Given the description of an element on the screen output the (x, y) to click on. 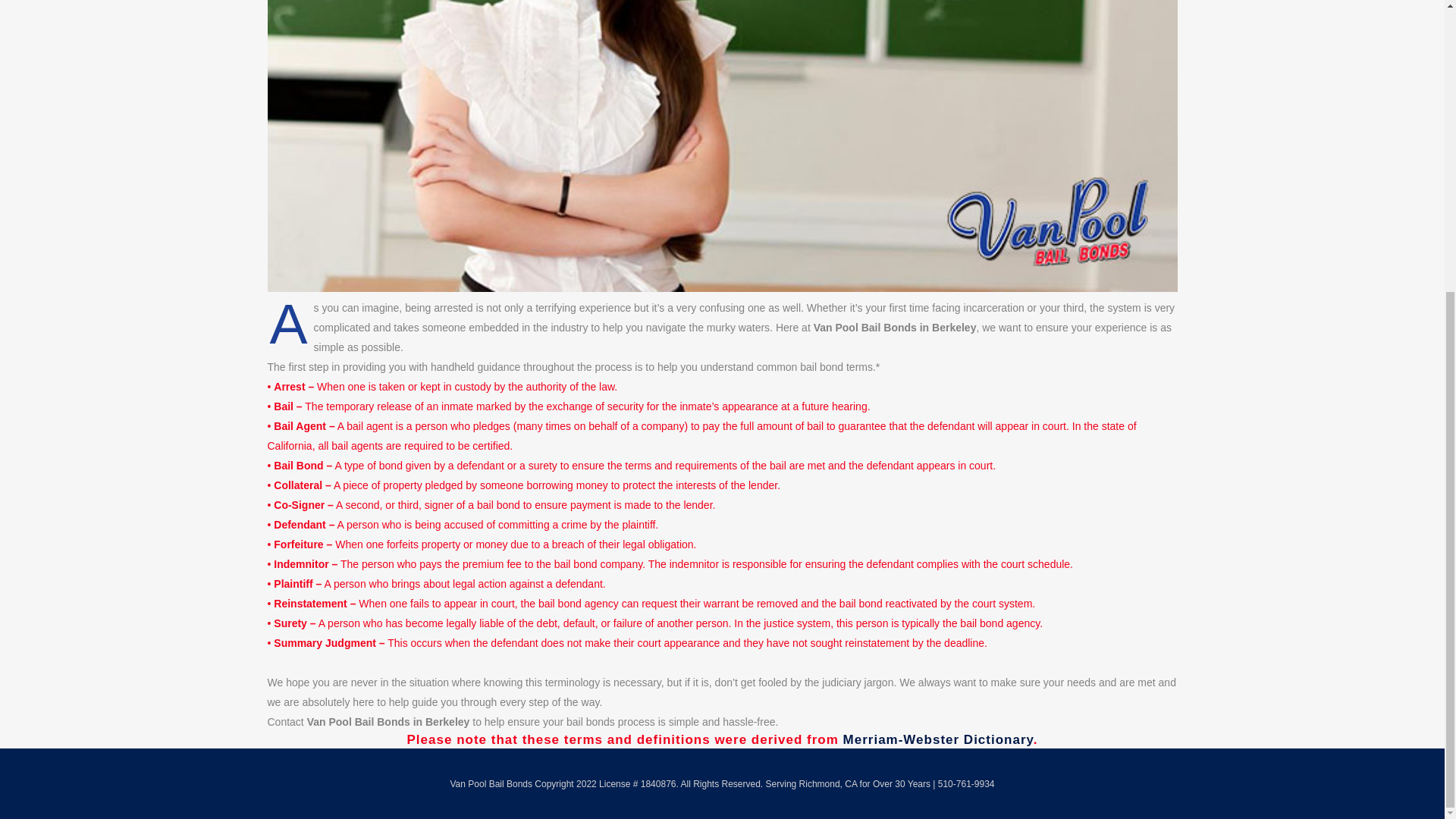
Van Pool Bail Bonds in Berkeley (938, 739)
Merriam-Webster Dictionary (938, 739)
